Given the description of an element on the screen output the (x, y) to click on. 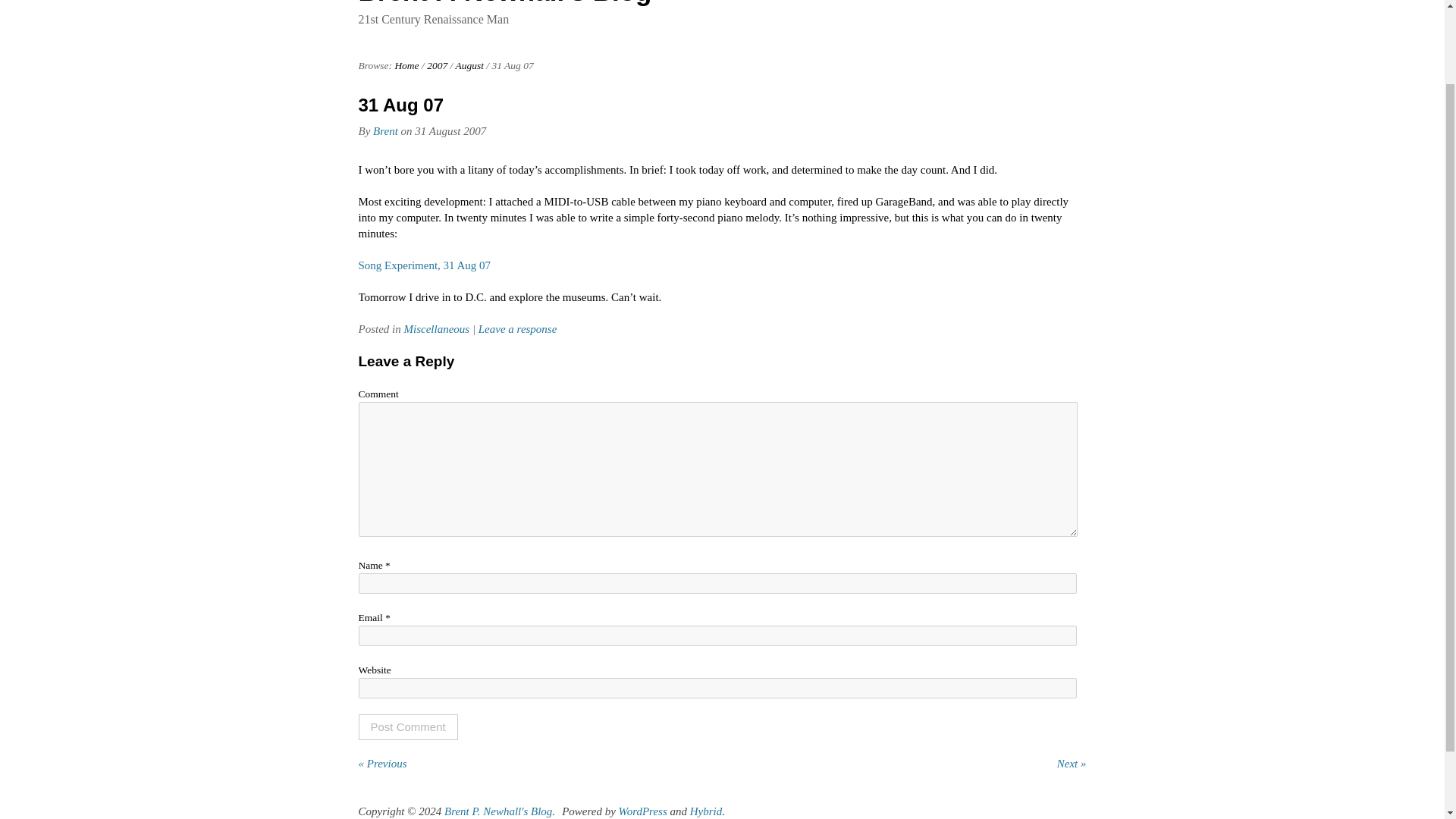
2007 (436, 65)
31 Aug 07 (401, 105)
Brent P. Newhall's Blog (504, 2)
Brent (384, 131)
Brent P. Newhall's Blog (504, 2)
State-of-the-art semantic personal publishing platform (642, 811)
Brent P. Newhall's Blog (497, 811)
Friday, August 31st, 2007, 12:00 am (450, 131)
Brent P. Newhall's Blog (406, 65)
Hybrid WordPress Theme (706, 811)
